Given the description of an element on the screen output the (x, y) to click on. 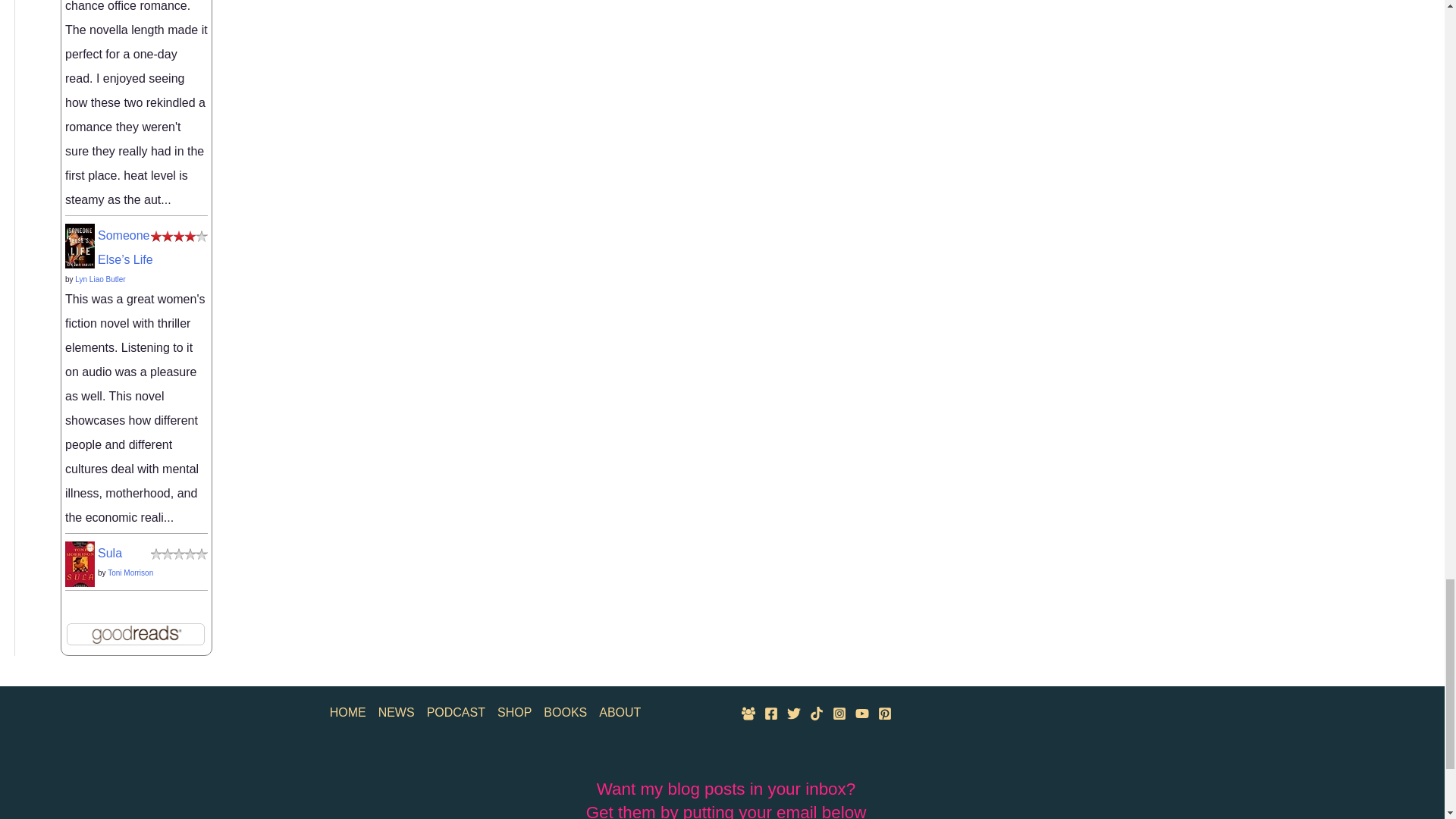
really liked it (179, 235)
Sula (79, 563)
